Given the description of an element on the screen output the (x, y) to click on. 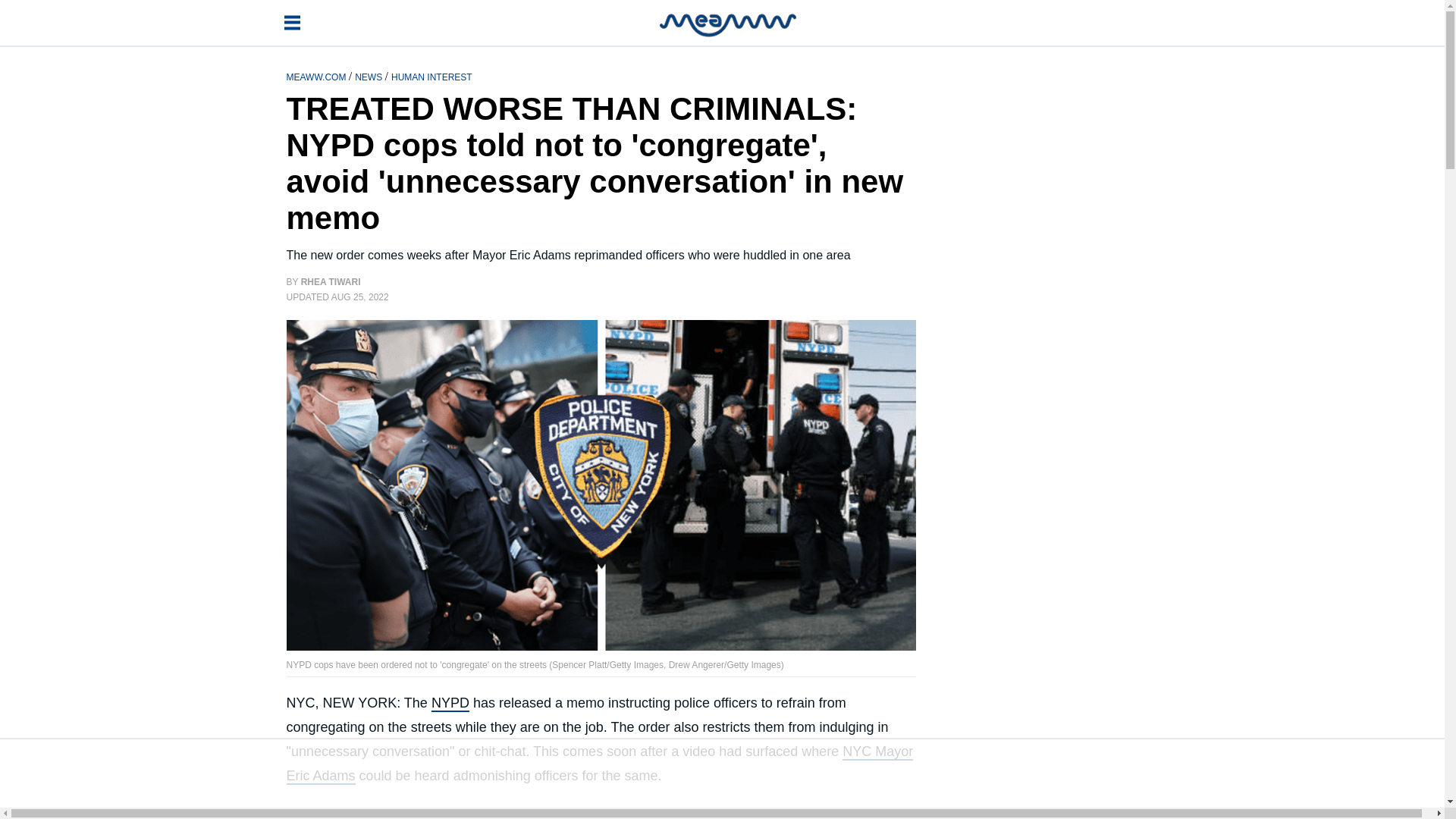
RHEA TIWARI (331, 281)
NYC Mayor Eric Adams (600, 763)
NYPD (449, 703)
MEAWW.COM (317, 75)
HUMAN INTEREST (431, 75)
NEWS (369, 75)
